Given the description of an element on the screen output the (x, y) to click on. 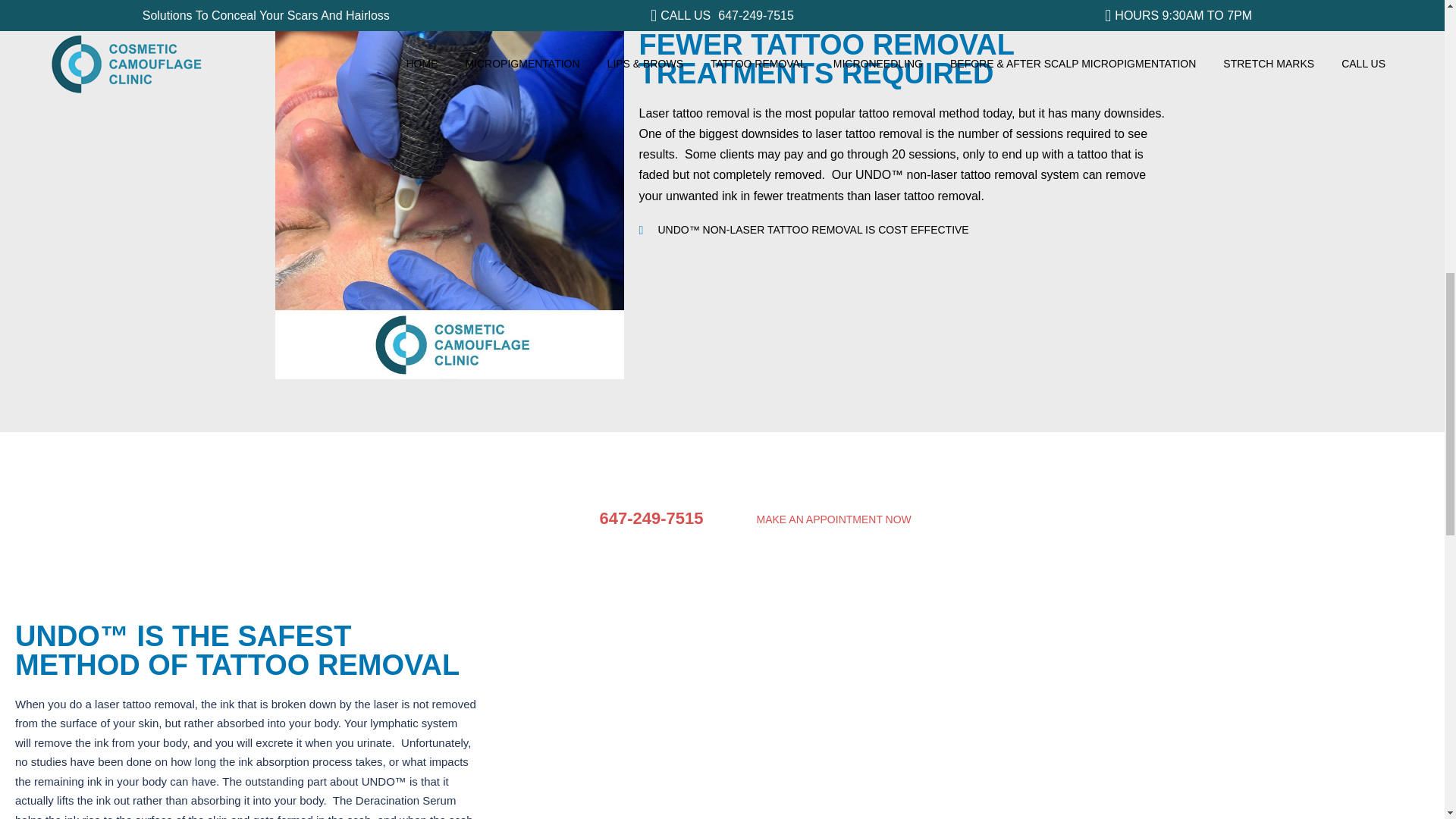
MAKE AN APPOINTMENT NOW (833, 519)
647-249-7515 (650, 517)
